Given the description of an element on the screen output the (x, y) to click on. 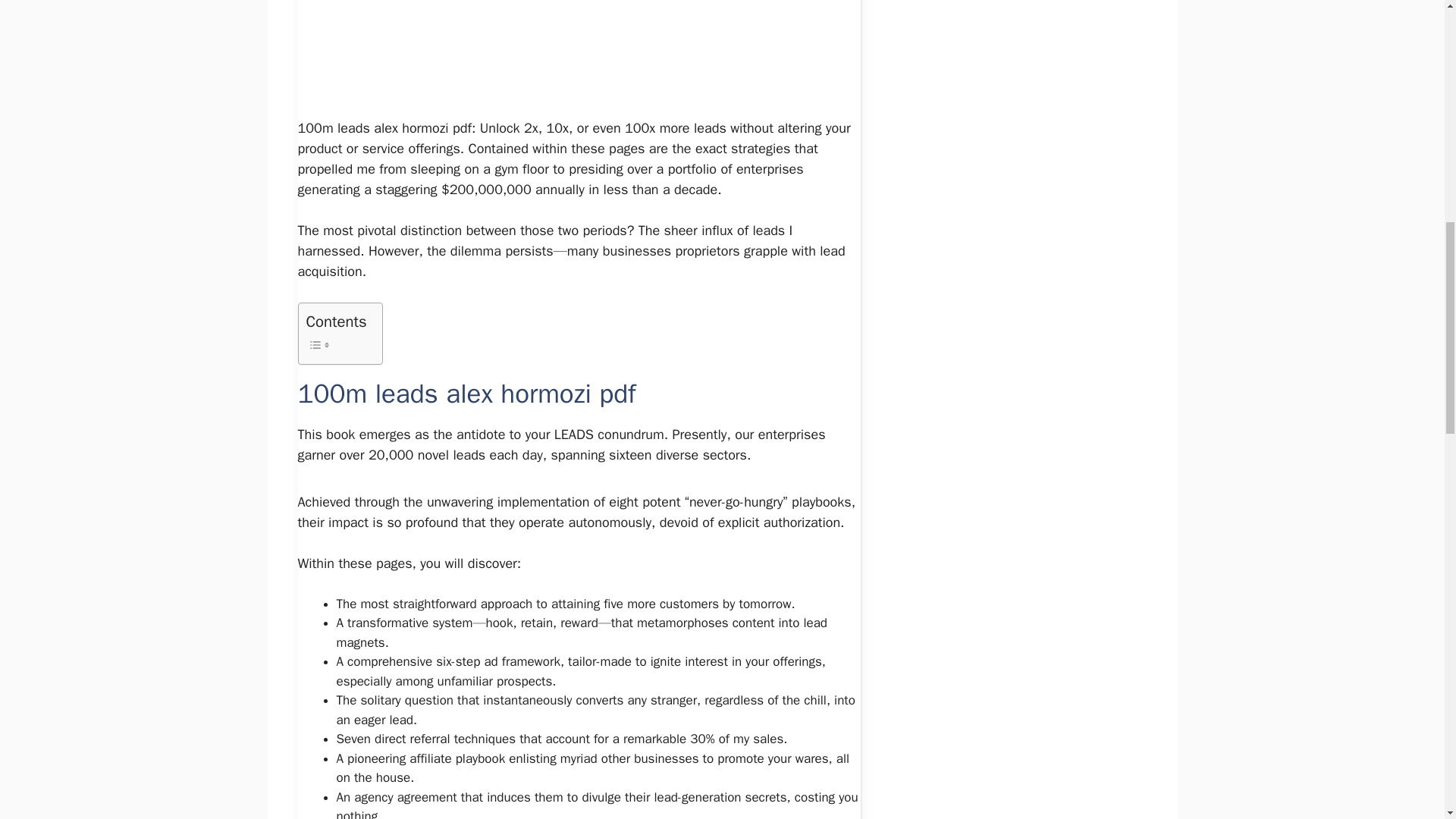
Advertisement (596, 56)
